Given the description of an element on the screen output the (x, y) to click on. 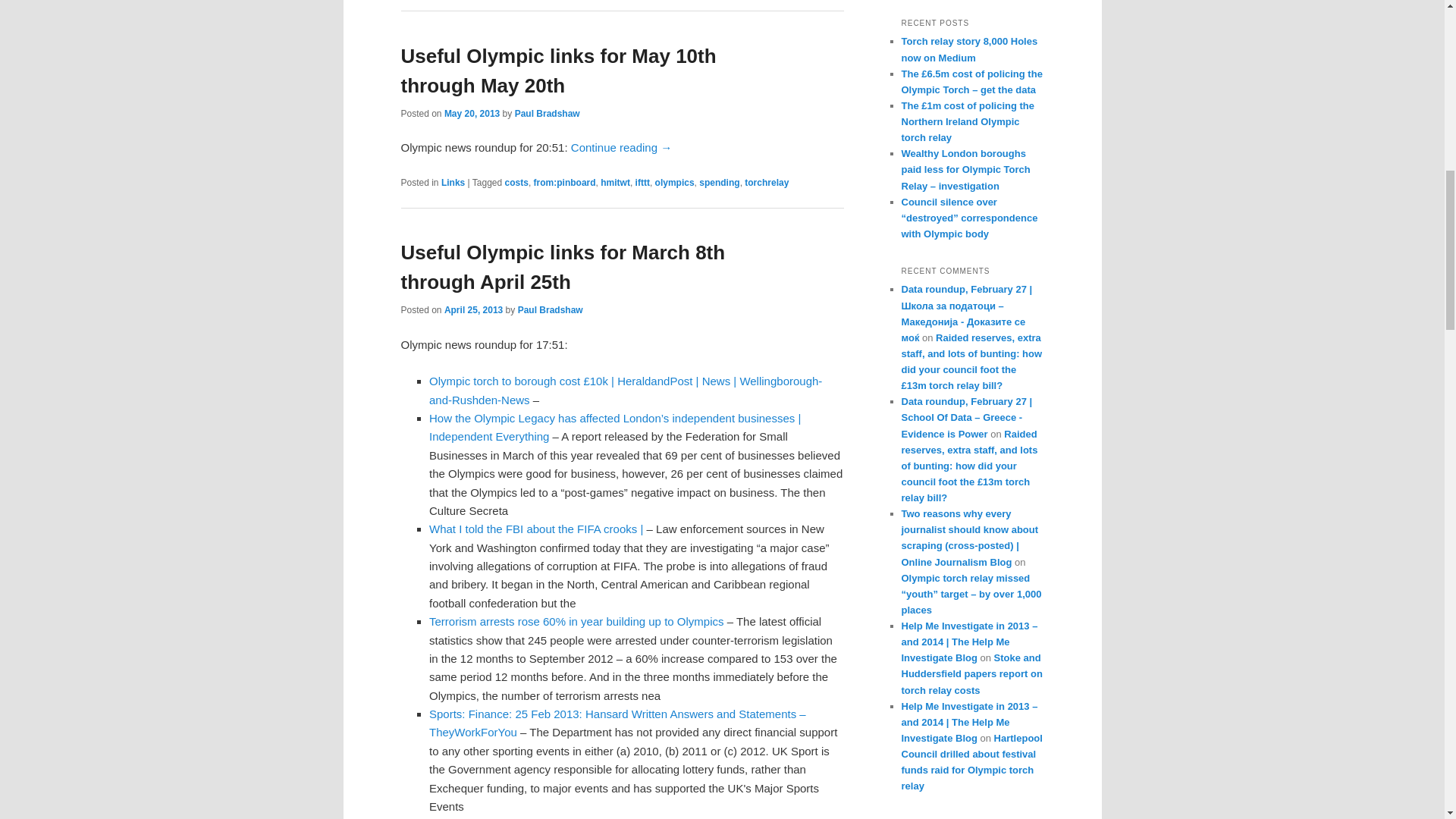
6:05 pm (473, 309)
olympics (674, 182)
Useful Olympic links for May 10th through May 20th (558, 71)
ifttt (641, 182)
April 25, 2013 (473, 309)
Useful Olympic links for March 8th through April 25th (562, 266)
View all posts by Paul Bradshaw (550, 309)
spending (718, 182)
View all posts by Paul Bradshaw (547, 113)
Links (452, 182)
from:pinboard (564, 182)
costs (516, 182)
Paul Bradshaw (547, 113)
9:02 pm (471, 113)
May 20, 2013 (471, 113)
